Given the description of an element on the screen output the (x, y) to click on. 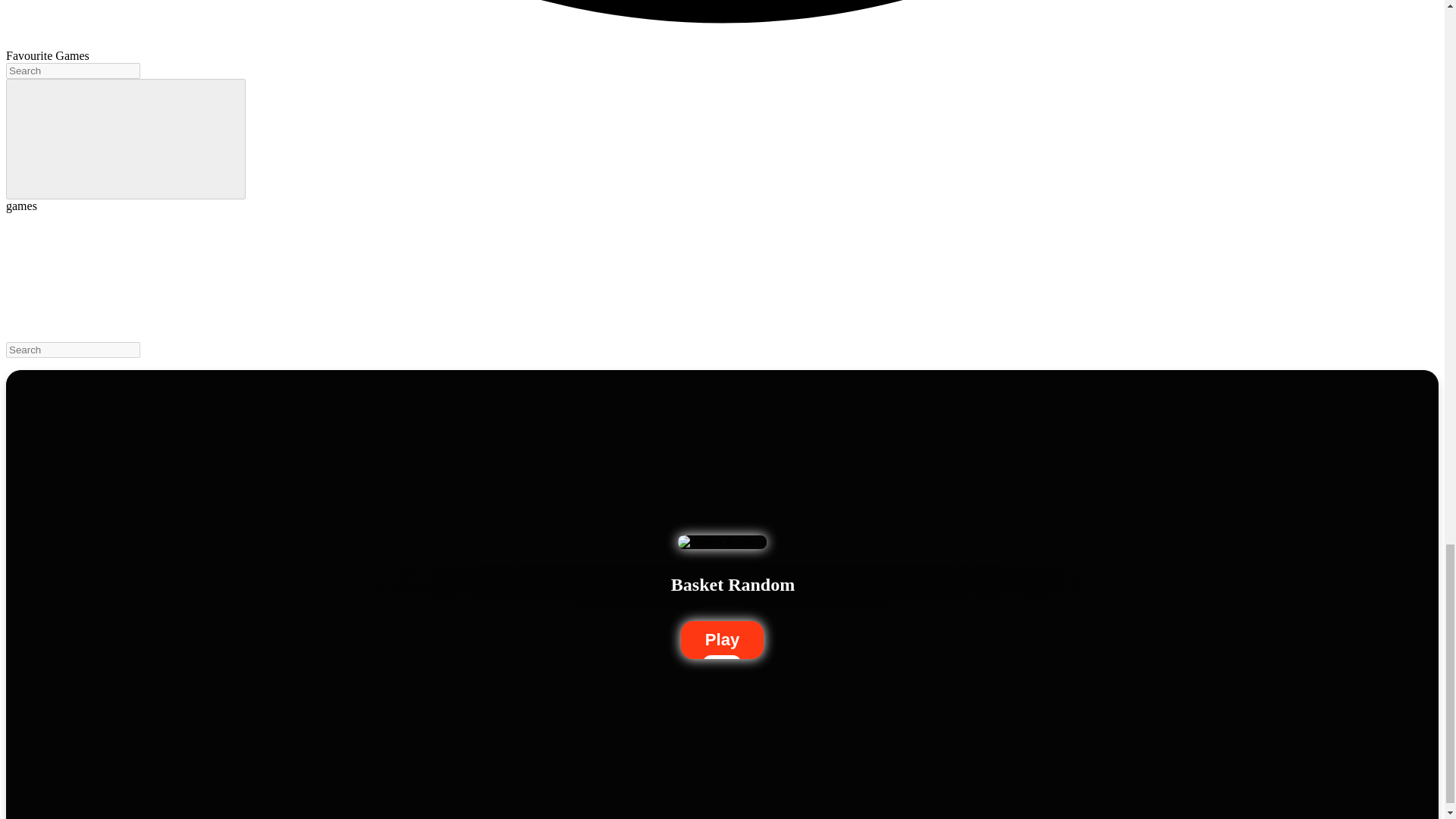
Play (721, 639)
